Given the description of an element on the screen output the (x, y) to click on. 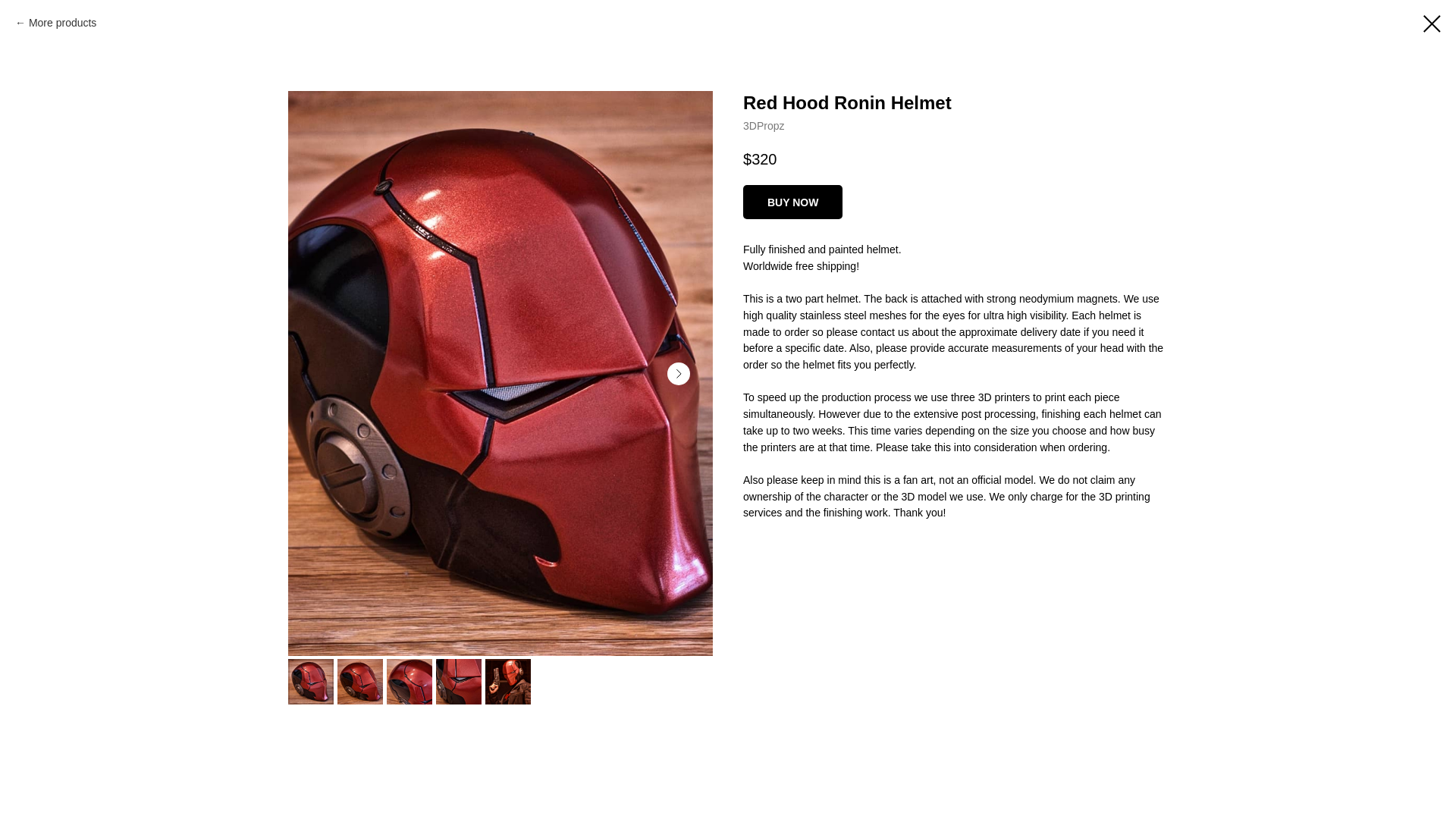
More products Element type: text (55, 23)
BUY NOW Element type: text (792, 202)
